Given the description of an element on the screen output the (x, y) to click on. 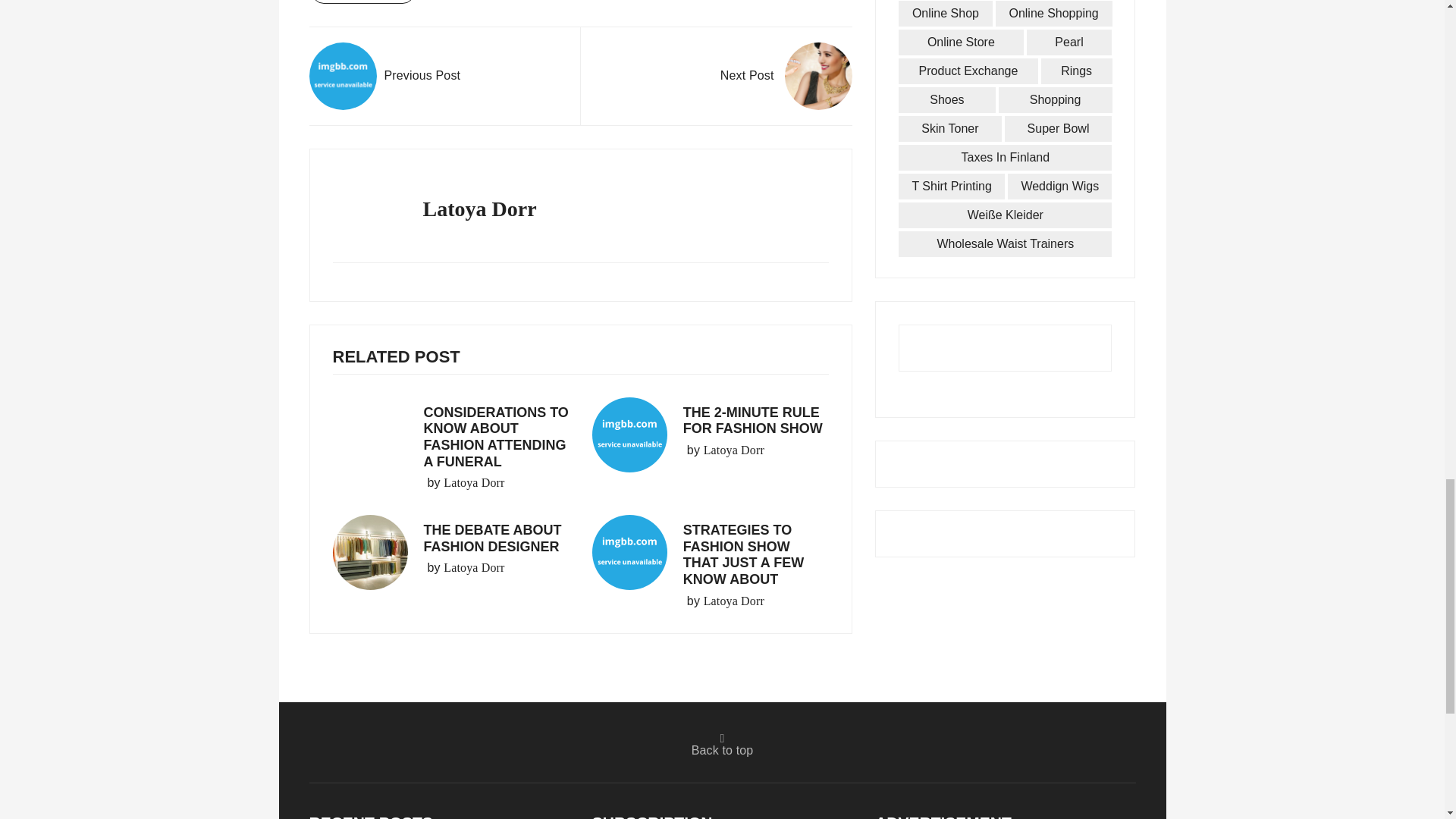
Next Post (785, 75)
fashionable (362, 2)
STRATEGIES TO FASHION SHOW THAT JUST A FEW KNOW ABOUT (742, 554)
The Lost Secret Of Fashion Show (817, 75)
THE DEBATE ABOUT FASHION DESIGNER (491, 538)
The Reality About Fashion Shop (342, 75)
THE 2-MINUTE RULE FOR FASHION SHOW (752, 420)
Previous Post (384, 75)
Latoya Dorr (733, 601)
Latoya Dorr (473, 567)
Latoya Dorr (733, 450)
CONSIDERATIONS TO KNOW ABOUT FASHION ATTENDING A FUNERAL (495, 436)
Latoya Dorr (473, 483)
